Given the description of an element on the screen output the (x, y) to click on. 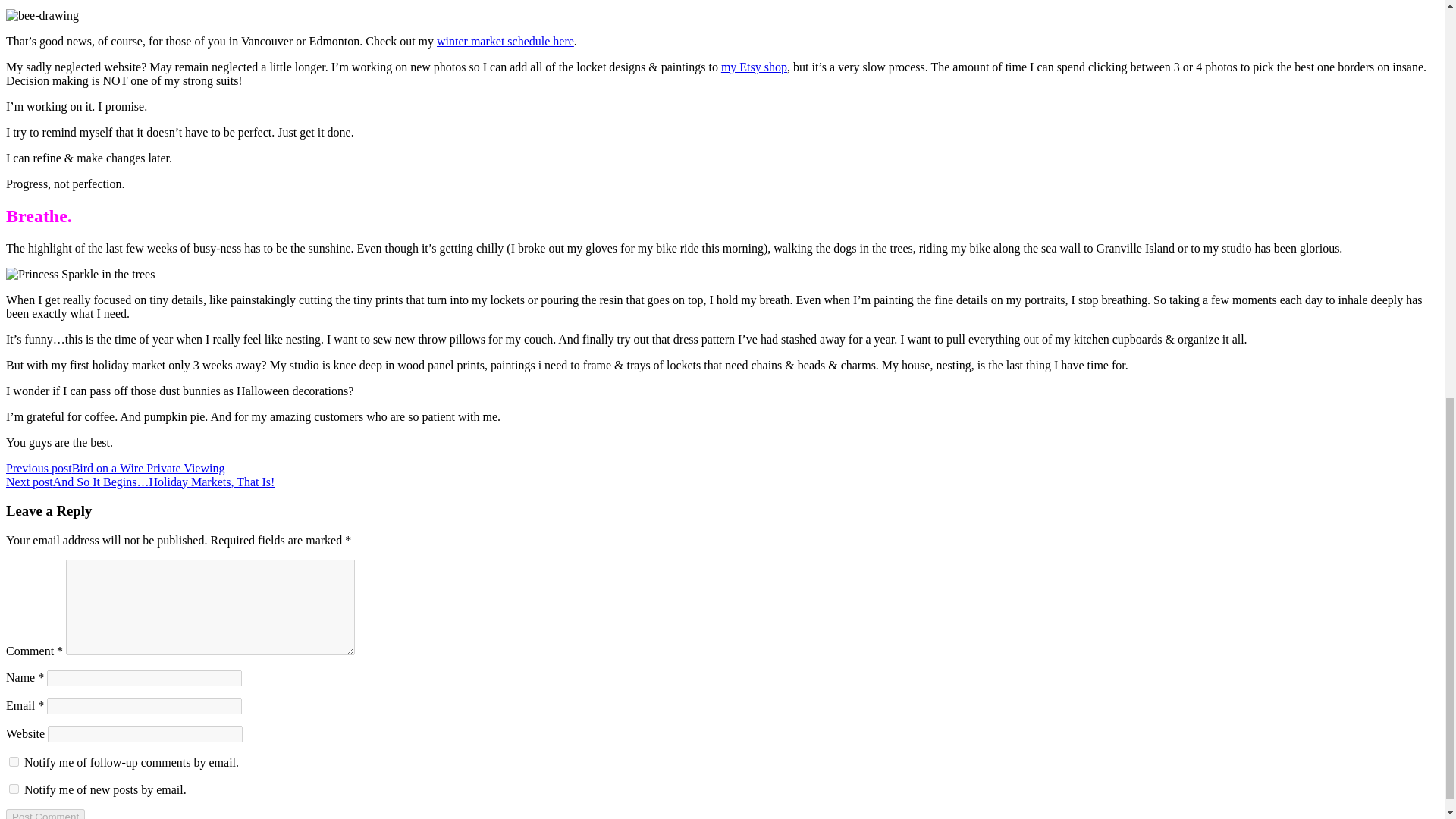
winter market schedule here (504, 41)
my Etsy shop (753, 66)
Previous postBird on a Wire Private Viewing (114, 468)
Cagey Bee markets (504, 41)
Cagey Bee on Etsy (753, 66)
subscribe (13, 761)
subscribe (13, 788)
